Given the description of an element on the screen output the (x, y) to click on. 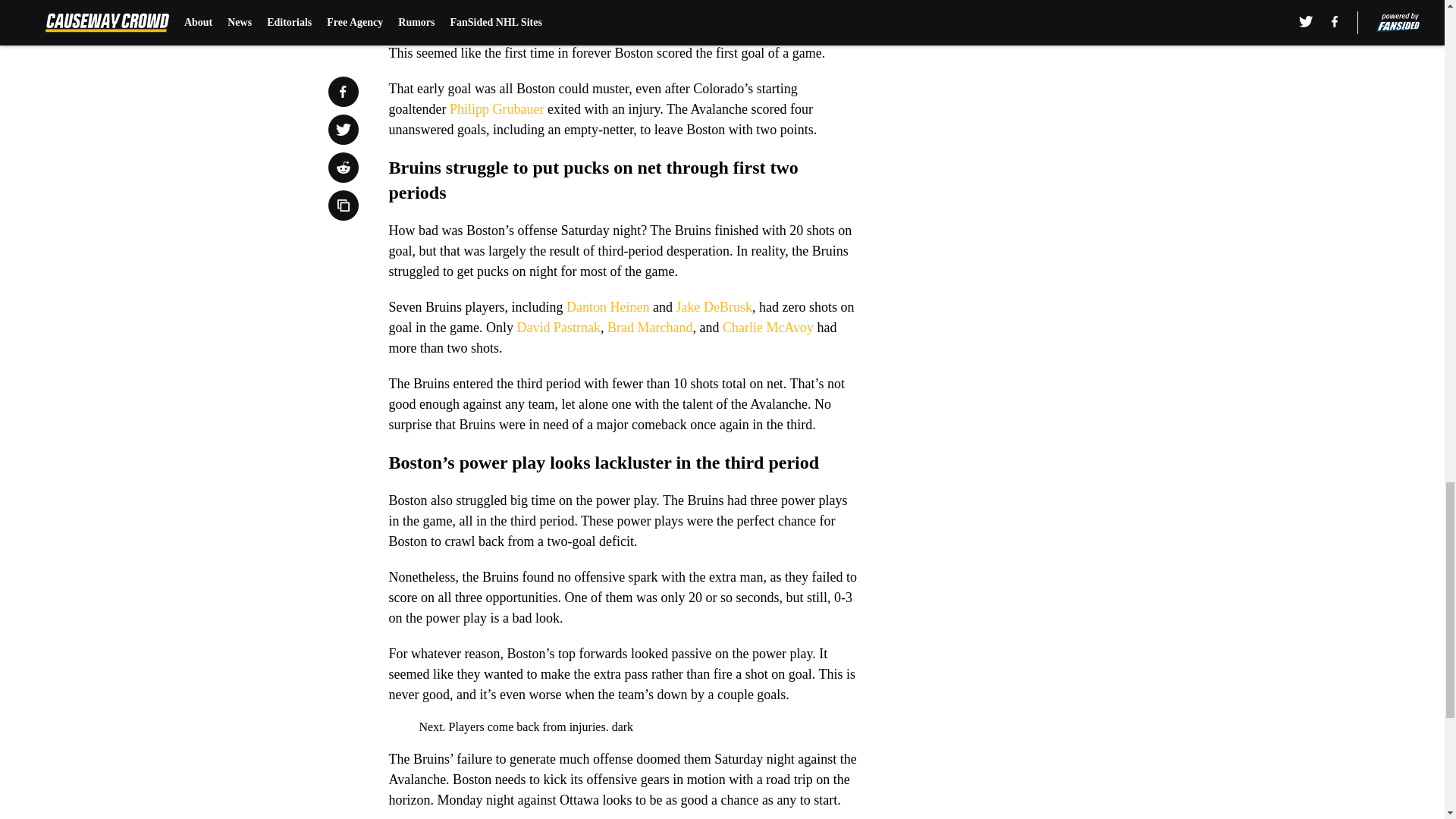
Chris Wagner (790, 32)
Brad Marchand (650, 327)
Philipp Grubauer (496, 109)
David Pastrnak (557, 327)
Charlie McAvoy (767, 327)
Danton Heinen (607, 306)
Jake DeBrusk (713, 306)
